Given the description of an element on the screen output the (x, y) to click on. 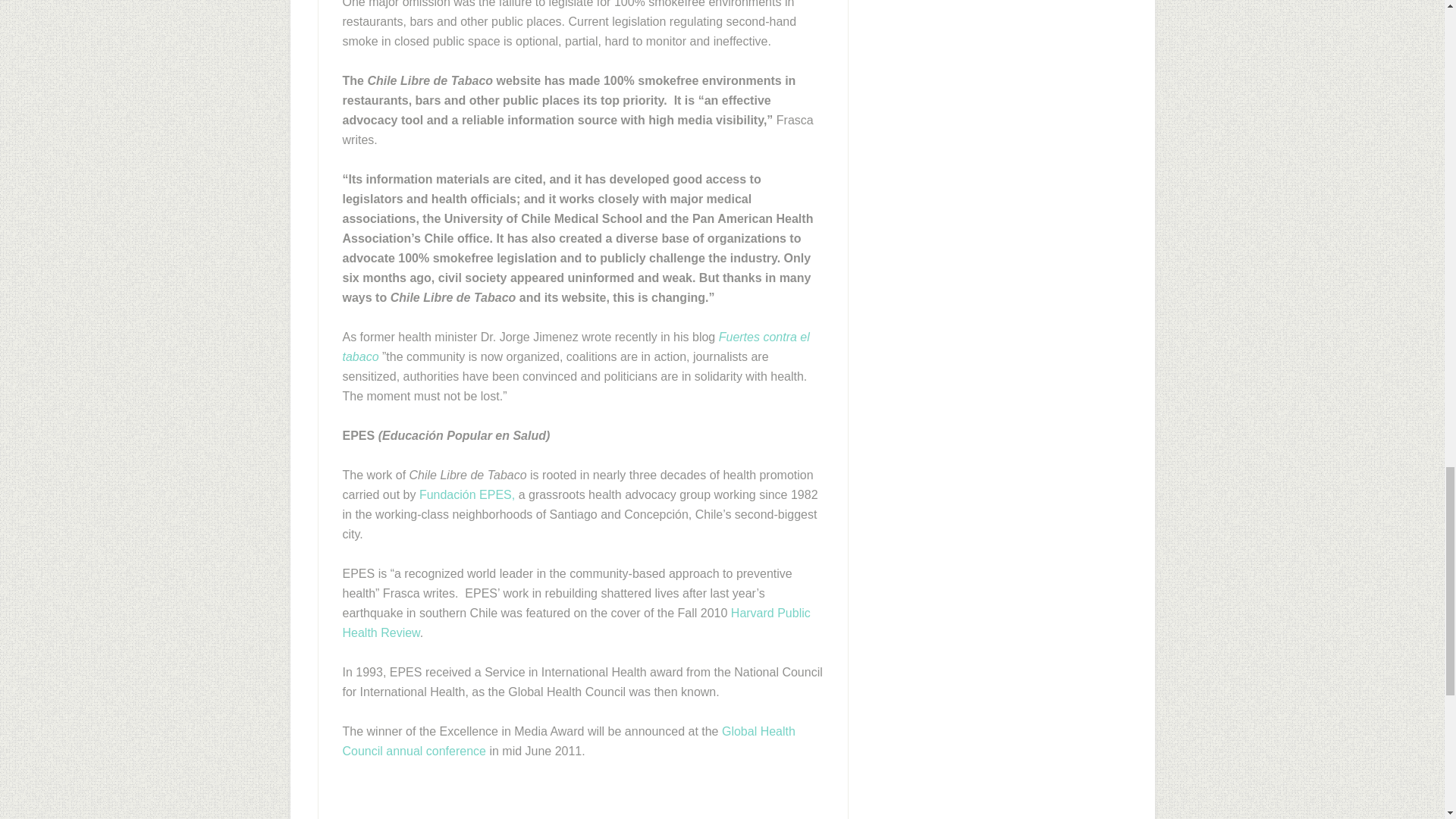
Fuertes contra el tabaco (575, 346)
Global Health Council annual conference (568, 740)
Harvard Public Health Review (576, 622)
